Given the description of an element on the screen output the (x, y) to click on. 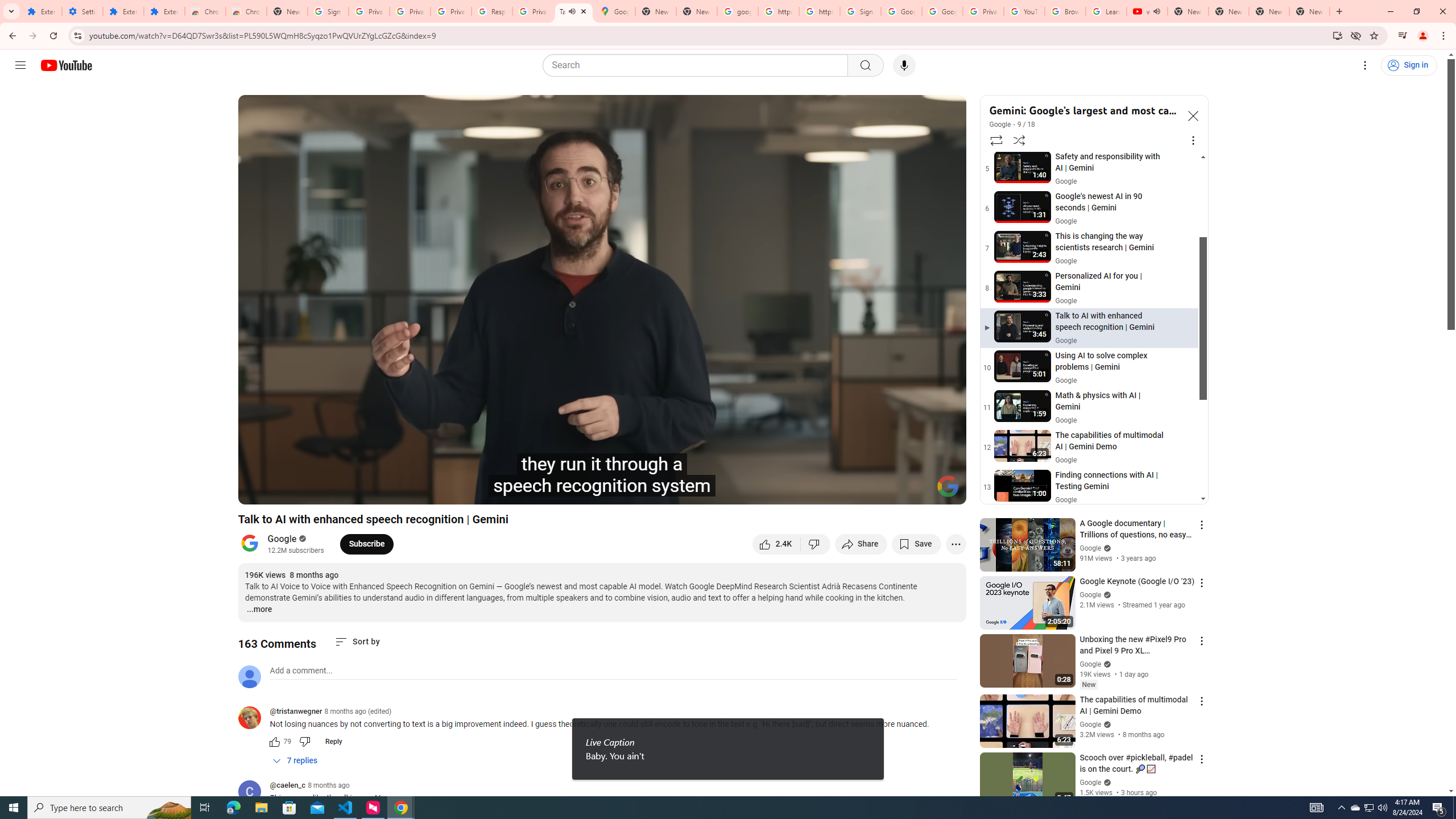
New Tab (287, 11)
like this video along with 2,460 other people (776, 543)
Sign in - Google Accounts (860, 11)
Miniplayer (i) (890, 490)
Channel watermark (947, 486)
Full screen (f) (945, 490)
Chrome Web Store - Themes (246, 11)
